Given the description of an element on the screen output the (x, y) to click on. 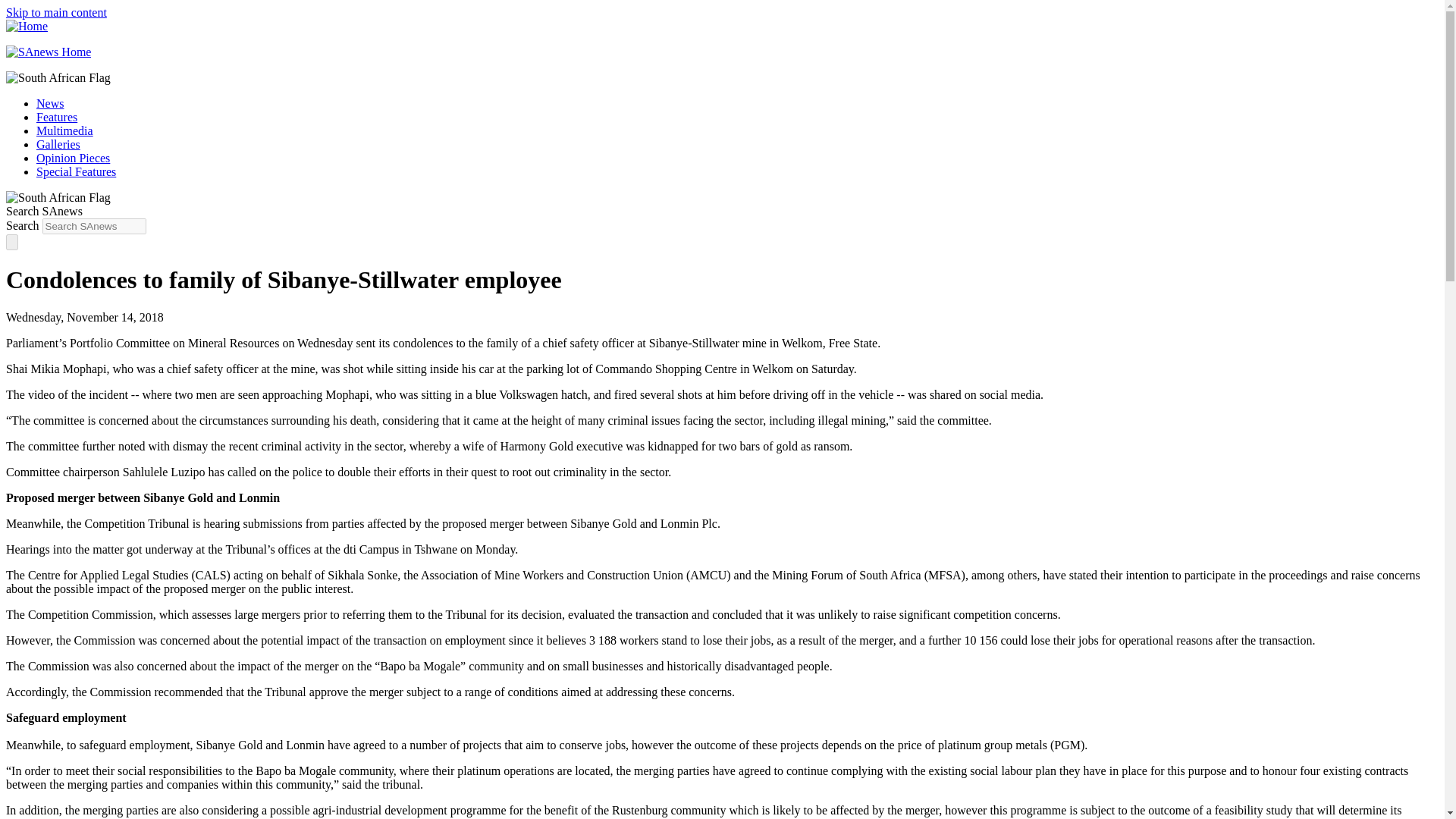
Features (56, 116)
Galleries (58, 144)
News (50, 103)
Opinion Pieces (73, 157)
Enter the terms you wish to search for. (94, 226)
Multimedia (64, 130)
Special Features (76, 171)
Home (26, 25)
Skip to main content (55, 11)
